Given the description of an element on the screen output the (x, y) to click on. 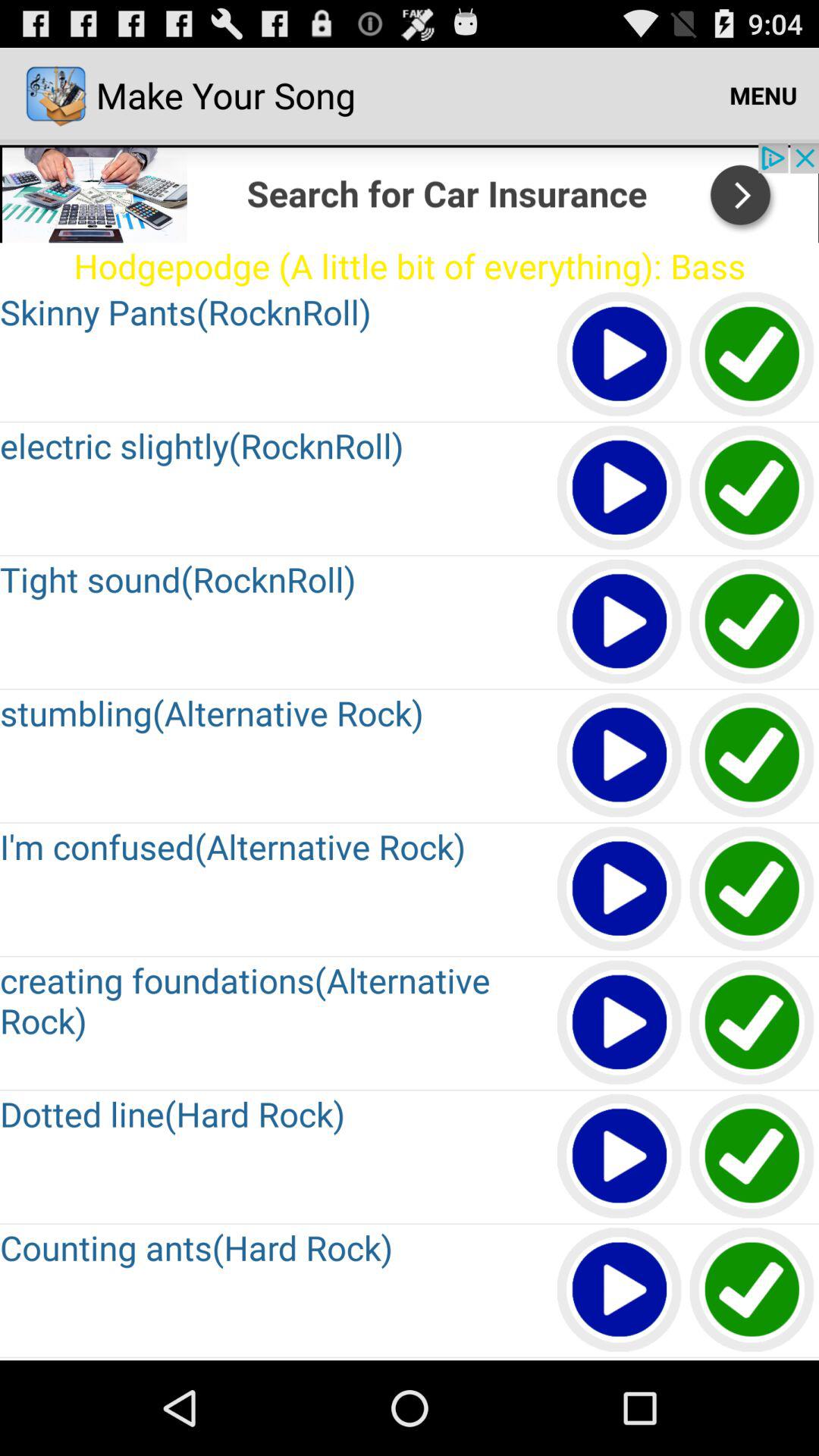
select switch (752, 755)
